Given the description of an element on the screen output the (x, y) to click on. 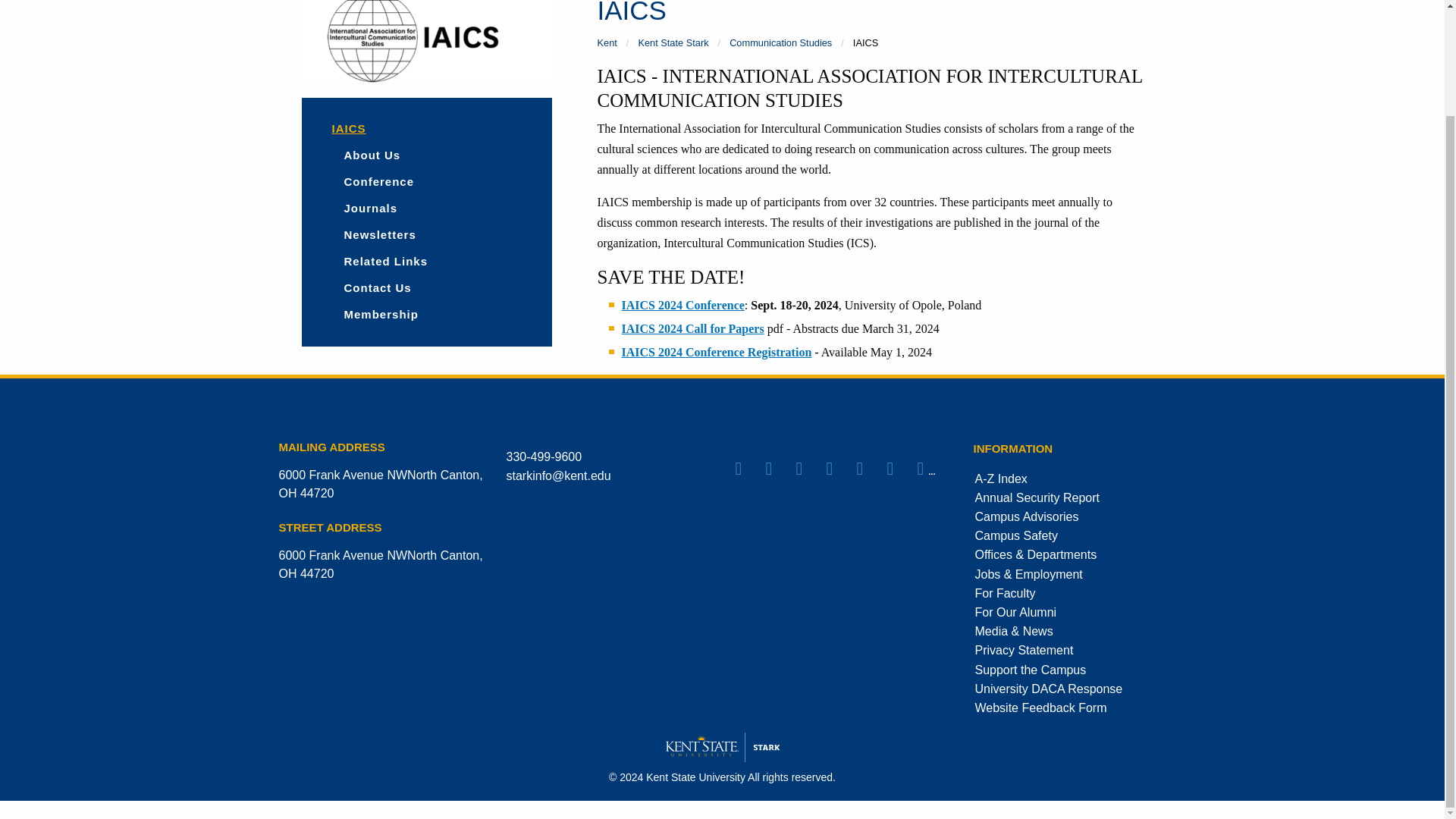
Kent State Kent Campus - Facebook (840, 468)
Kent State Kent Campus - Facebook (809, 468)
Kent State Kent Campus - Facebook (779, 468)
Kent State Kent Campus - Facebook (748, 468)
Kent State Kent Campus - Facebook (870, 468)
Kent State Kent Campus - Facebook (900, 468)
Kent State University logo (721, 747)
